Given the description of an element on the screen output the (x, y) to click on. 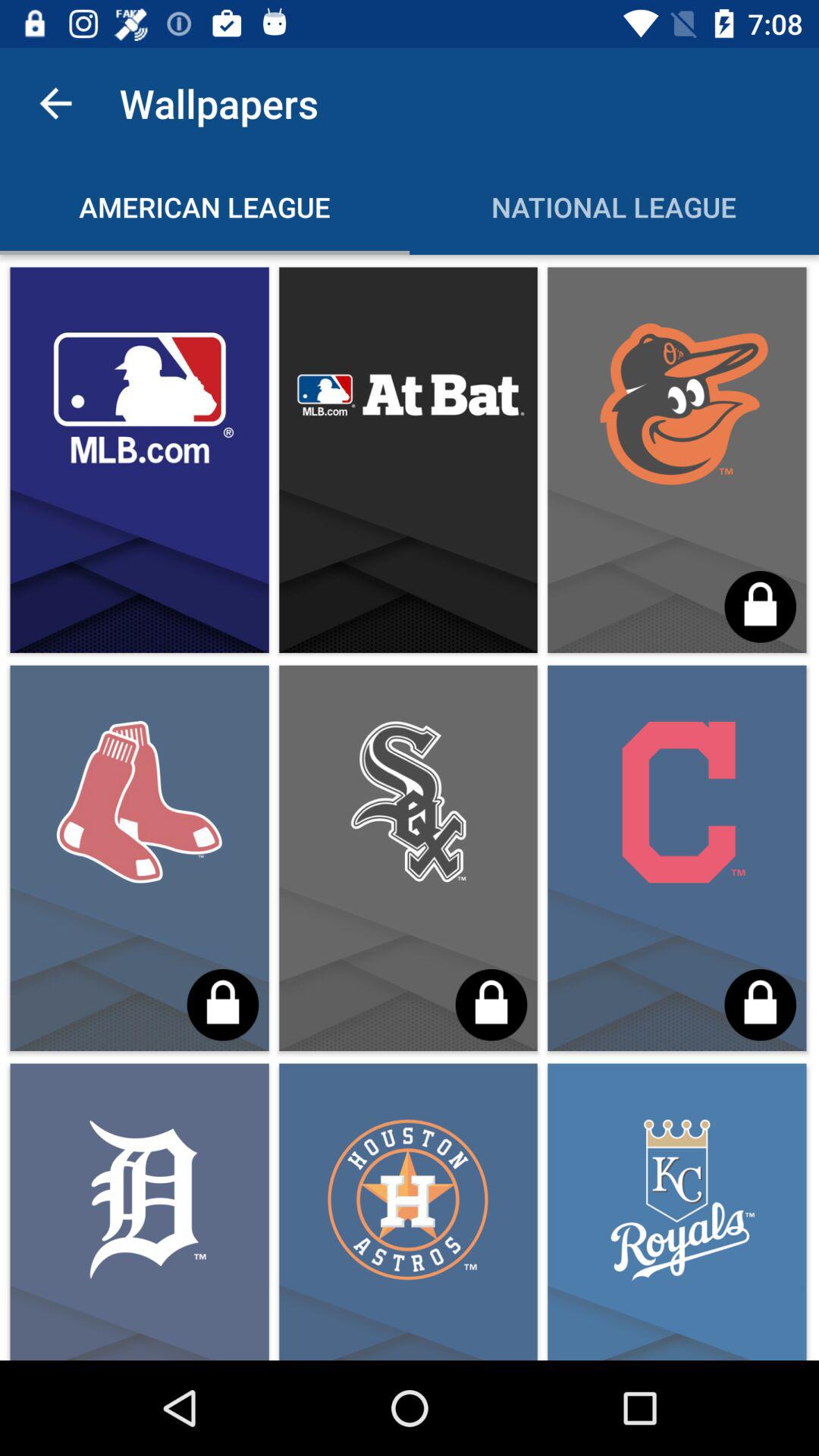
turn off icon next to the wallpapers (55, 103)
